Given the description of an element on the screen output the (x, y) to click on. 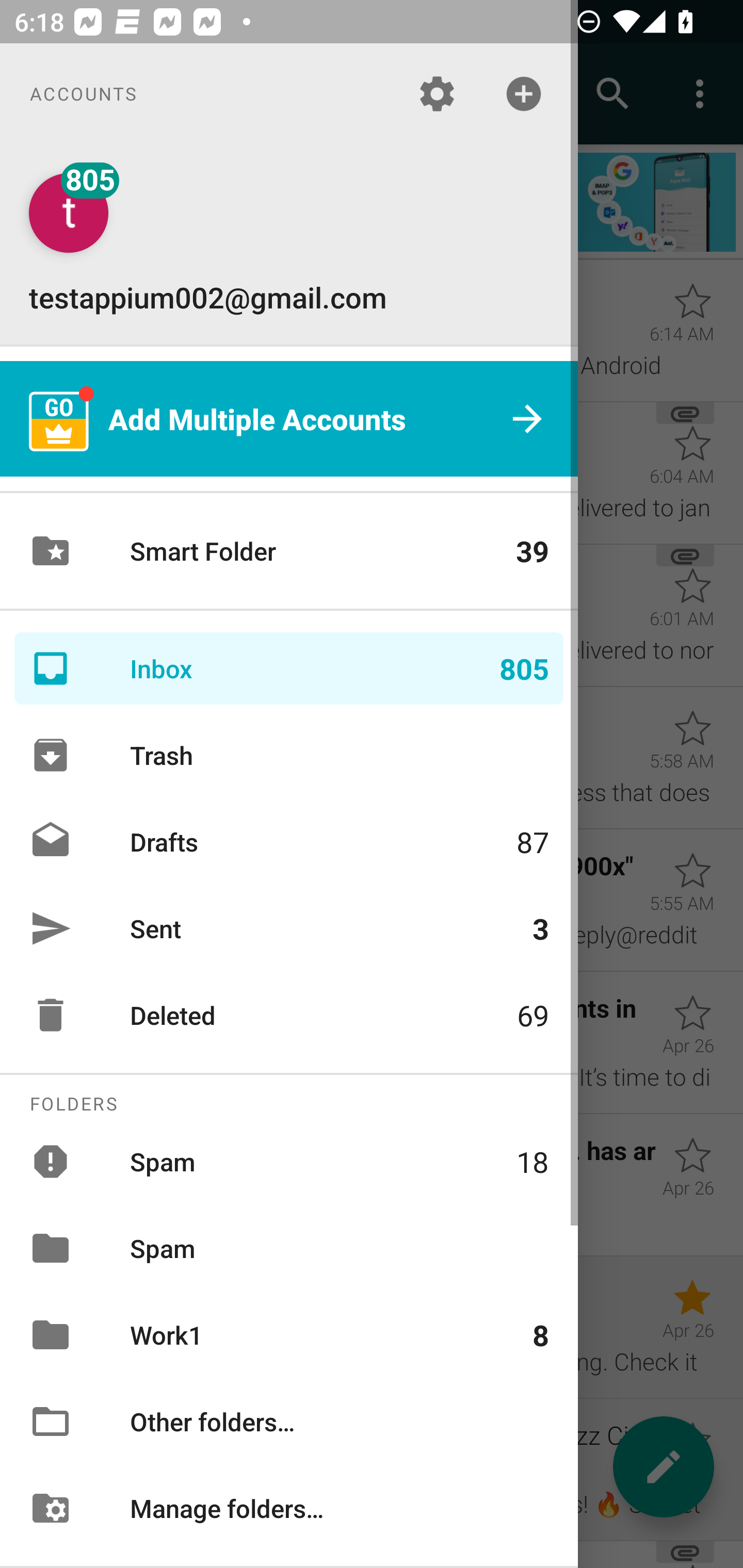
testappium002@gmail.com (289, 244)
Add Multiple Accounts (289, 418)
Smart Folder 39 (289, 551)
Inbox 805 (289, 668)
Trash (289, 754)
Drafts 87 (289, 841)
Sent 3 (289, 928)
Deleted 69 (289, 1015)
Spam 18 (289, 1160)
Spam (289, 1248)
Work1 8 (289, 1335)
Other folders… (289, 1421)
Manage folders… (289, 1507)
